Given the description of an element on the screen output the (x, y) to click on. 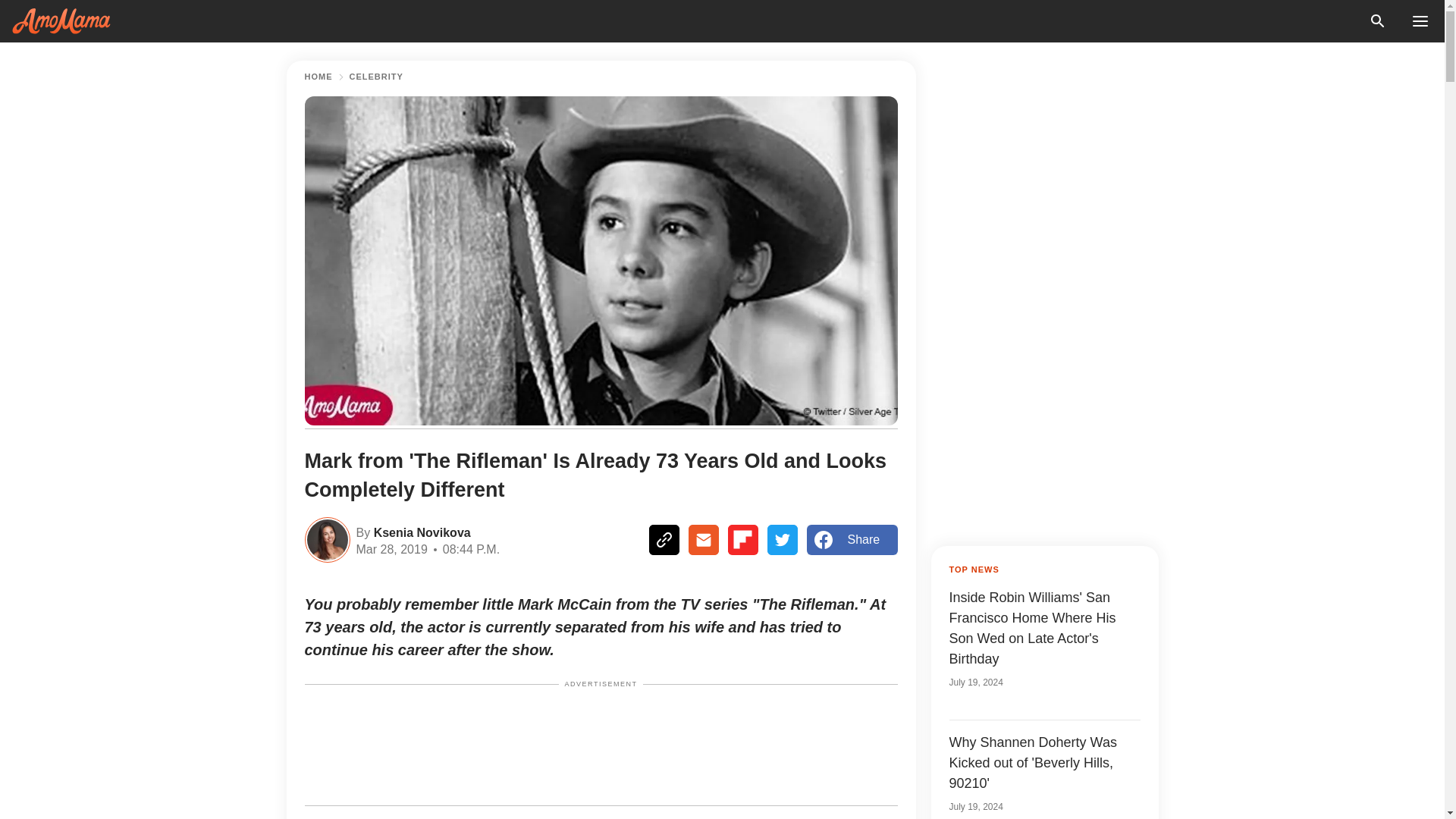
HOME (318, 76)
CELEBRITY (376, 76)
Ksenia Novikova (419, 531)
